Given the description of an element on the screen output the (x, y) to click on. 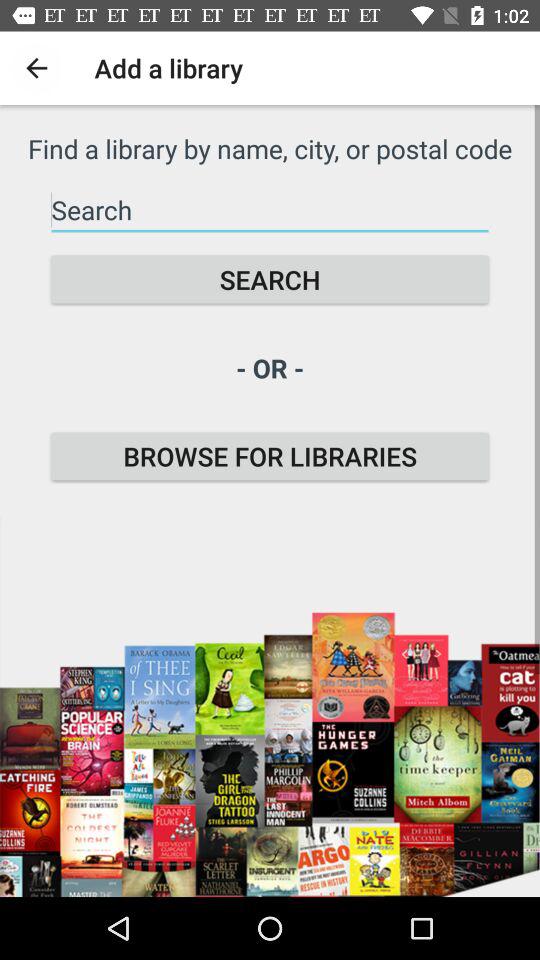
open the icon below find a library icon (269, 210)
